Given the description of an element on the screen output the (x, y) to click on. 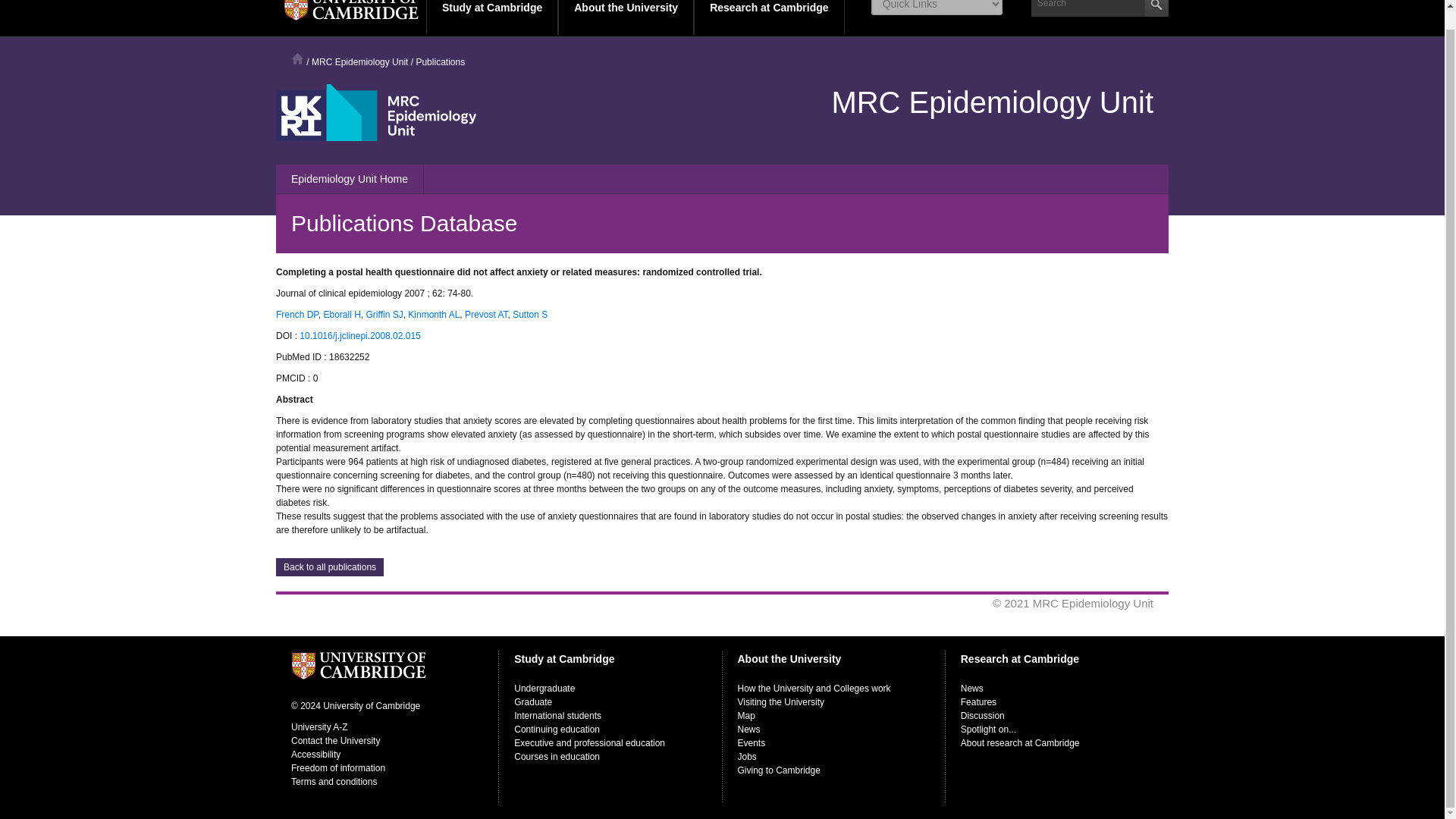
Research at Cambridge (769, 17)
Study at Cambridge (491, 17)
About the University (625, 17)
